Given the description of an element on the screen output the (x, y) to click on. 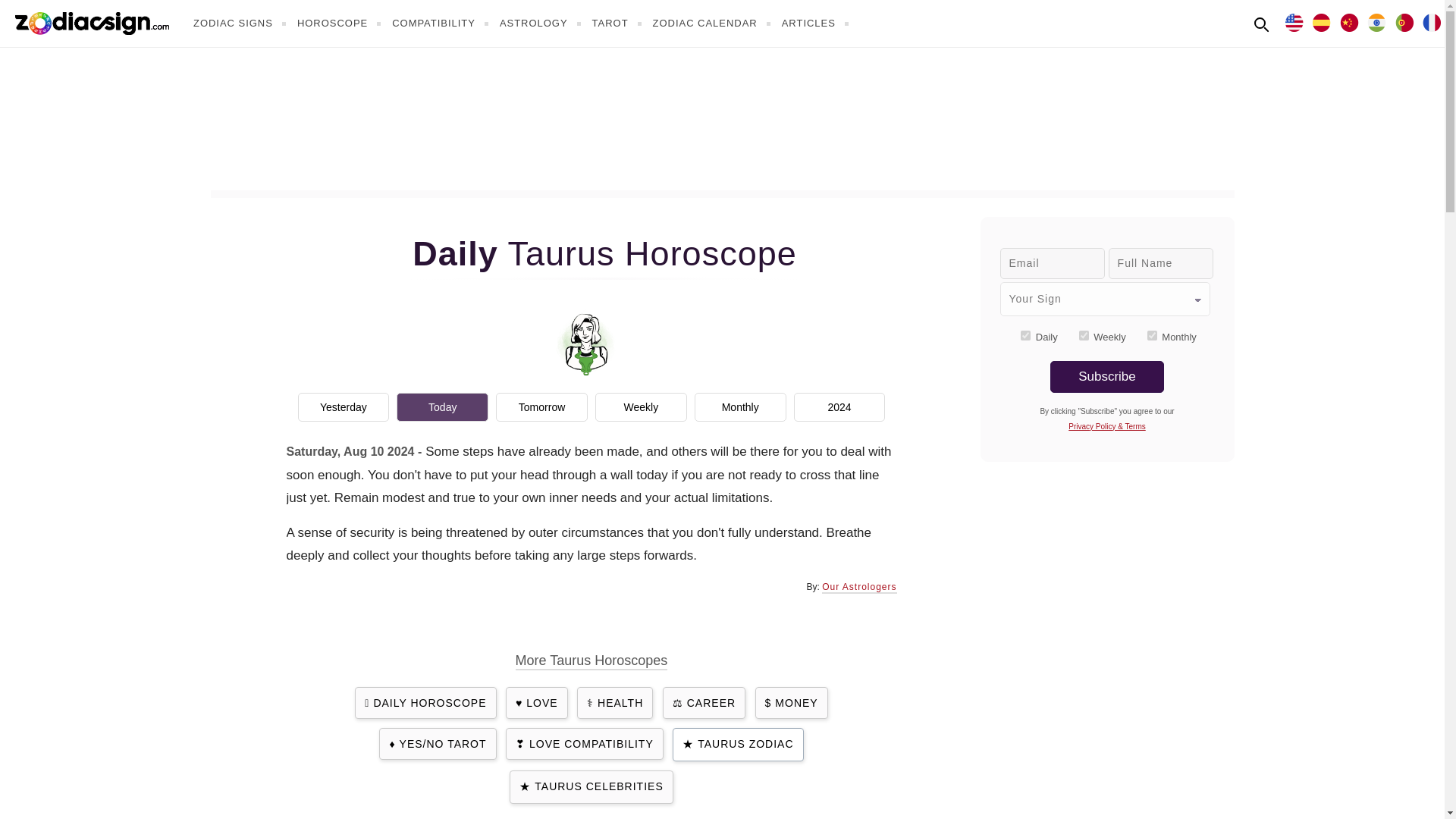
monthly (1152, 335)
daily (1025, 335)
ZODIAC SIGNS (241, 23)
weekly (1083, 335)
HOROSCOPE (341, 23)
In English (1294, 21)
